Given the description of an element on the screen output the (x, y) to click on. 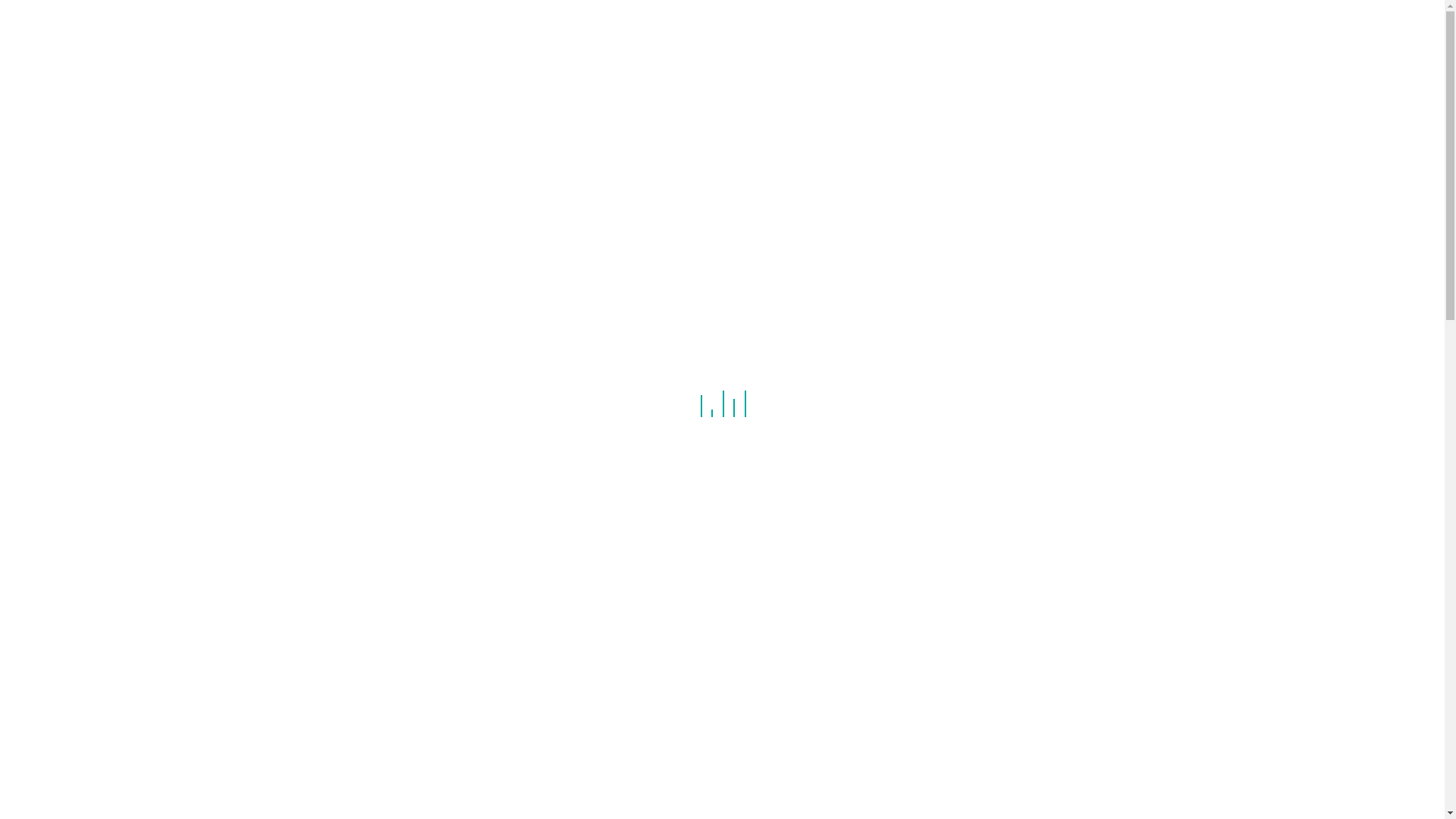
The Digitally Savvy Element type: text (441, 722)
Home Element type: text (775, 30)
Careers Element type: text (847, 30)
HealthEngine Element type: text (492, 703)
Technology Element type: text (749, 294)
Health News Element type: text (961, 761)
Company Background Element type: text (985, 588)
Featured Element type: text (951, 637)
About Us Element type: text (1100, 30)
Generation Next Element type: text (676, 703)
HealthEngineLife Element type: text (768, 703)
The Digitally Savvy Element type: text (566, 303)
Causes We Support Element type: text (980, 564)
Join Element type: text (1030, 30)
Generation Next Element type: text (972, 662)
Technology Element type: text (358, 722)
Health Practices In Focus Element type: text (996, 785)
READ MORE Element type: text (390, 513)
Growth Element type: text (946, 687)
Search Element type: text (51, 20)
A story of product management from my personal life Element type: text (538, 649)
October 16, 2017 Element type: text (375, 294)
HealthEngineLife Element type: text (973, 810)
February 14, 2017 Element type: text (377, 703)
Digital Natives Element type: text (592, 703)
Digital Natives Element type: text (966, 613)
Medication Manager decommission Element type: text (1024, 356)
The new HealthEngine apps are coming! Element type: text (1008, 277)
Startup Element type: text (695, 294)
Health Advocacy Element type: text (971, 712)
Health and Technology Element type: text (611, 294)
Download App Element type: text (945, 30)
HealthEngine Element type: text (487, 294)
Health and Technology Element type: text (989, 736)
